Given the description of an element on the screen output the (x, y) to click on. 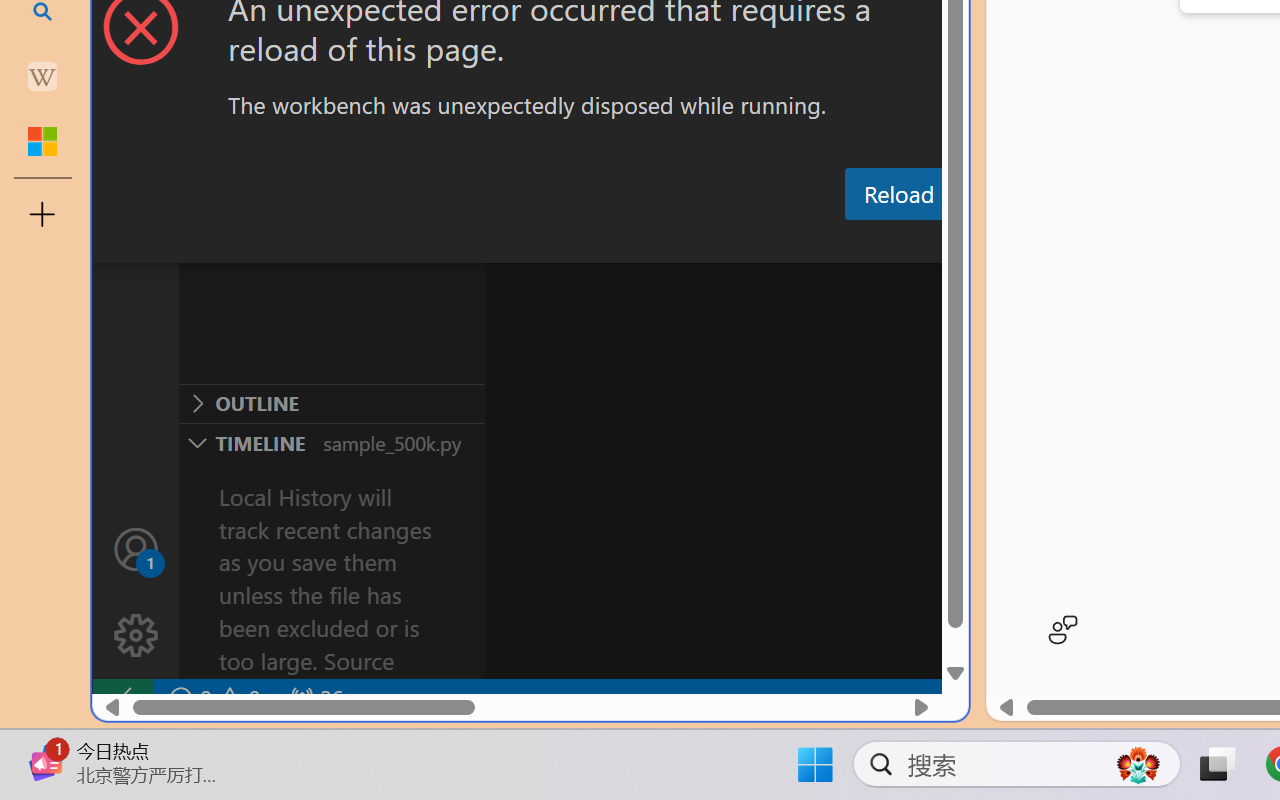
Output (Ctrl+Shift+U) (696, 243)
No Problems (212, 698)
Timeline Section (331, 442)
Outline Section (331, 403)
